Given the description of an element on the screen output the (x, y) to click on. 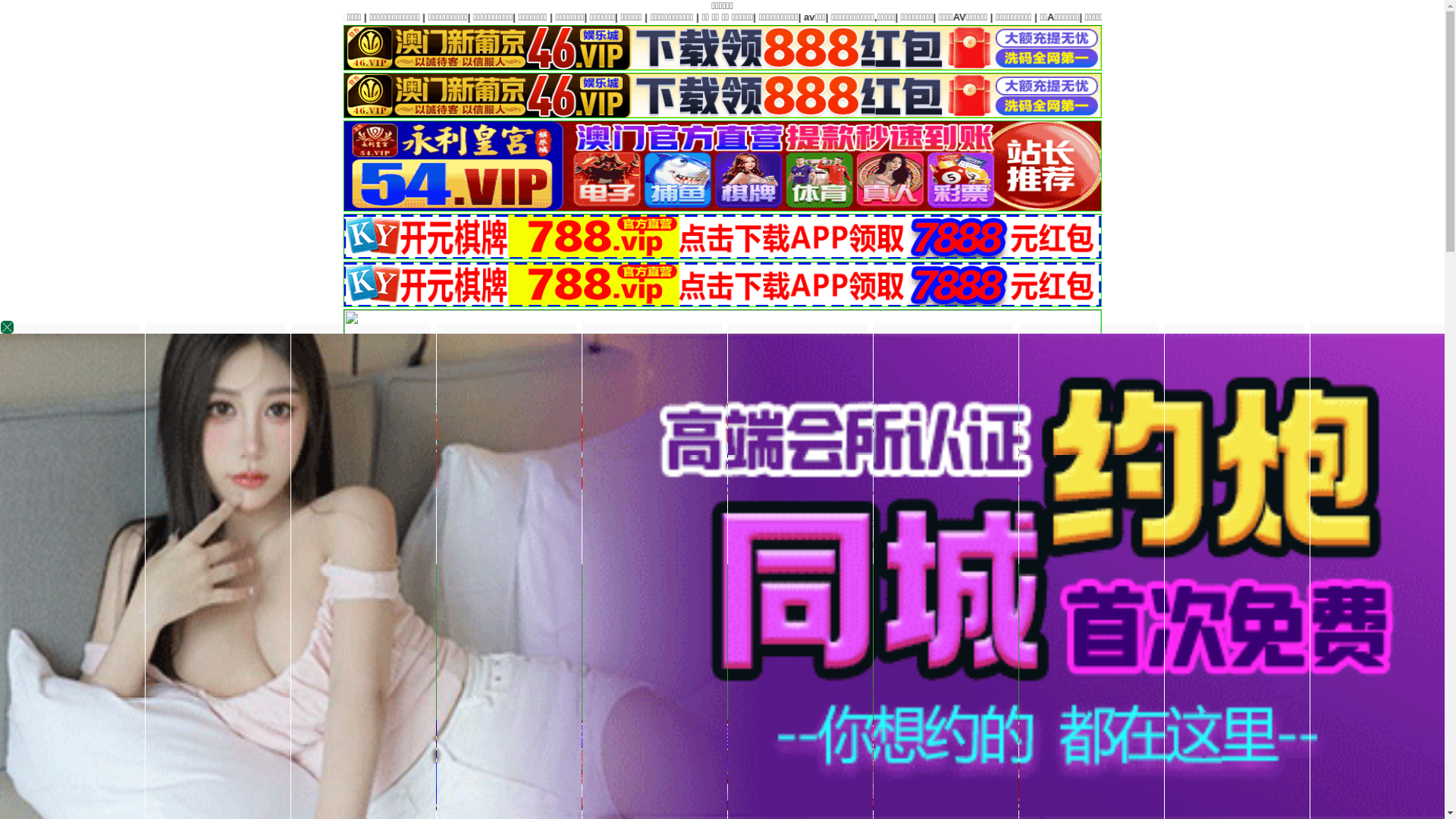
| Element type: text (999, 16)
| Element type: text (811, 16)
| Element type: text (773, 16)
| Element type: text (1420, 16)
| Element type: text (748, 16)
www.hehui888.com Element type: text (876, 523)
| Element type: text (1239, 16)
| Element type: text (776, 693)
www.gxht168.com Element type: text (779, 523)
| Element type: text (878, 693)
| Element type: text (626, 693)
| Element type: text (937, 16)
| Element type: text (1309, 16)
| Element type: text (736, 693)
www.i0534.com Element type: text (602, 523)
| Element type: text (1183, 16)
| Element type: text (816, 693)
| Element type: text (690, 693)
| Element type: text (1133, 16)
| Element type: text (1091, 16)
| Element type: text (650, 693)
| Element type: text (924, 693)
www.swszl.com Element type: text (688, 523)
| Element type: text (858, 16)
| Element type: text (1013, 693)
| Element type: text (1062, 693)
| Element type: text (970, 693)
| Element type: text (1274, 16)
| Element type: text (1045, 16)
| Element type: text (897, 16)
| Element type: text (1364, 16)
